Given the description of an element on the screen output the (x, y) to click on. 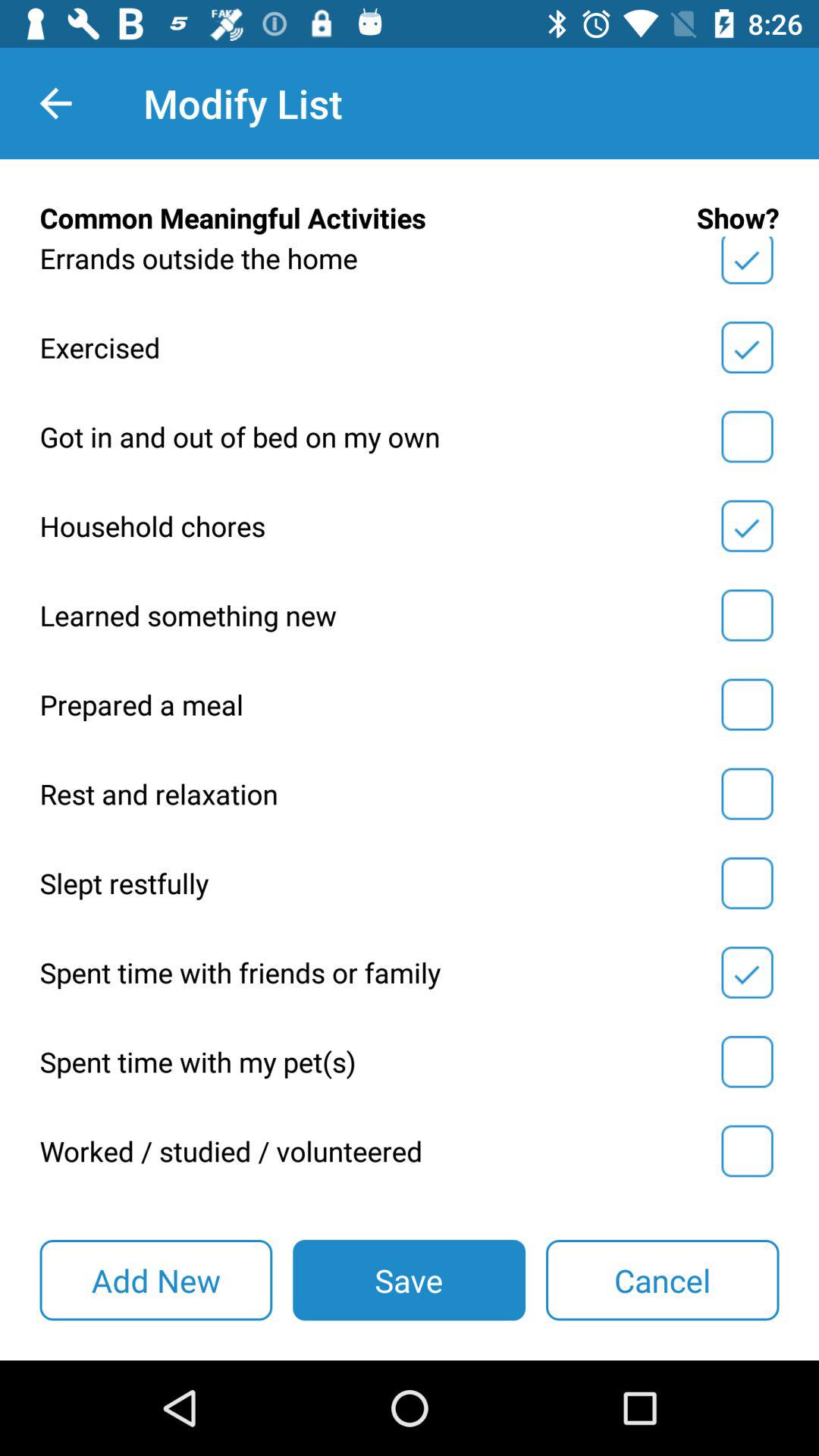
empty (747, 1061)
